Given the description of an element on the screen output the (x, y) to click on. 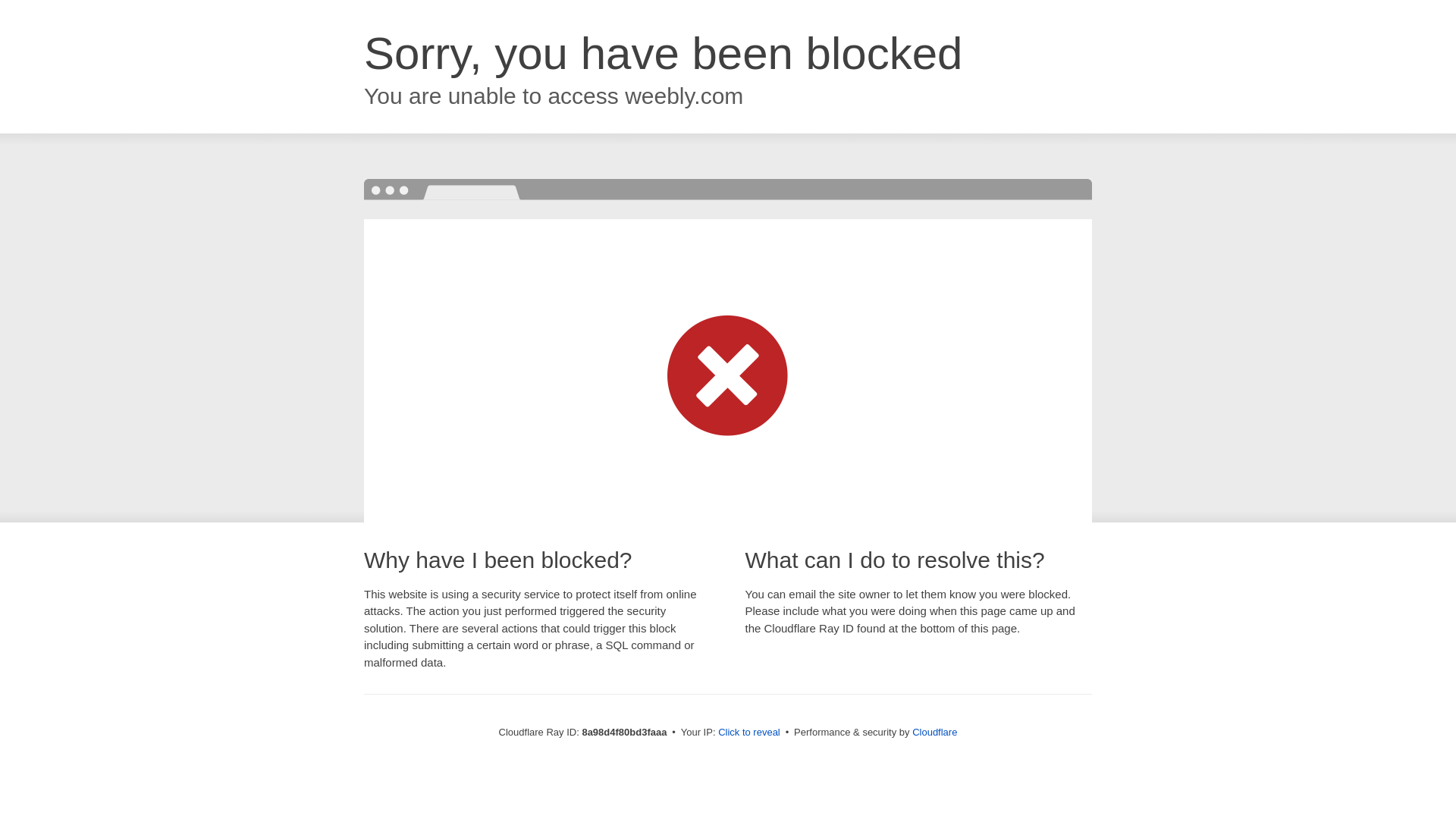
Cloudflare (934, 731)
Click to reveal (748, 732)
